Given the description of an element on the screen output the (x, y) to click on. 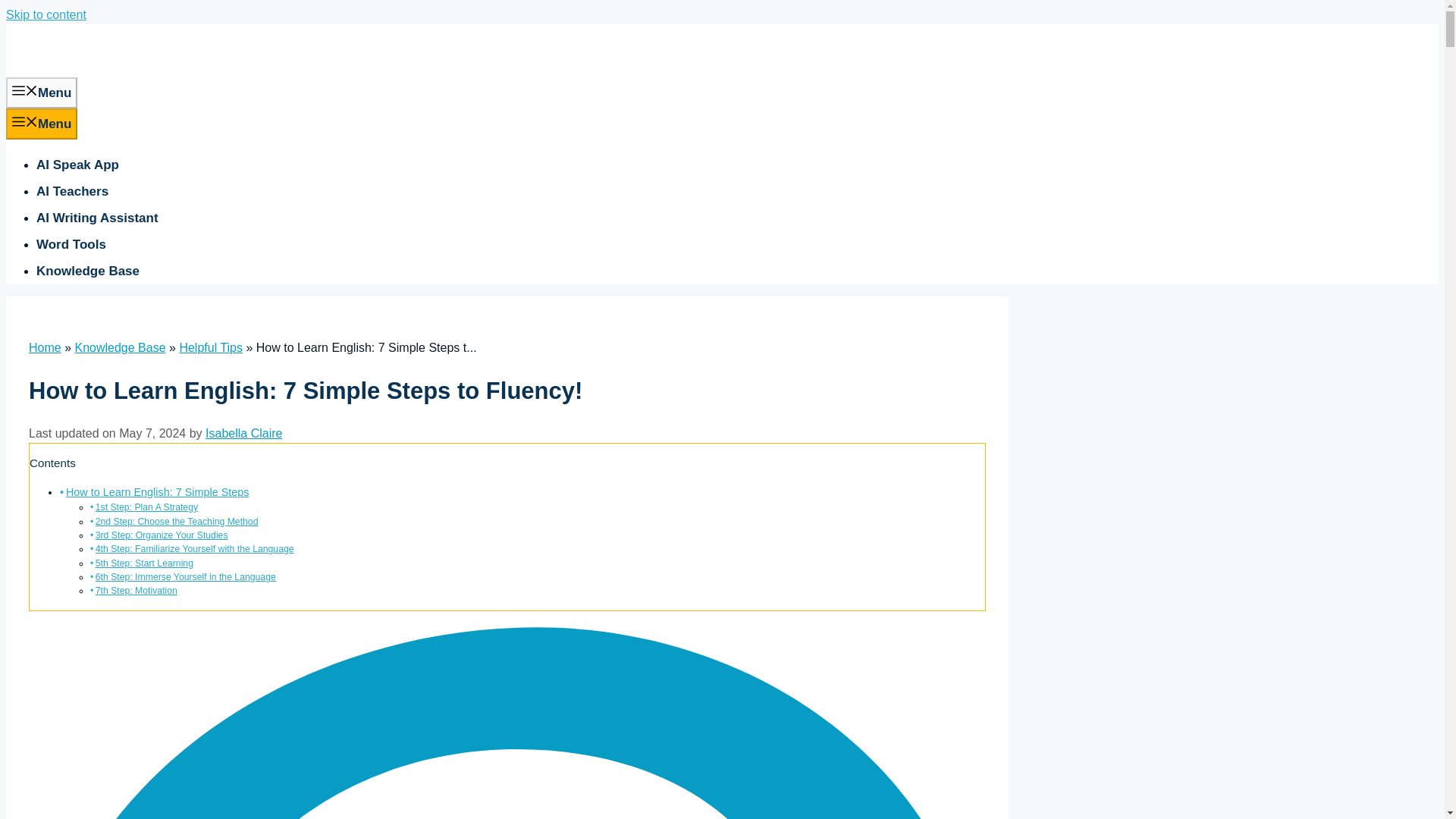
AI Writing Assistant (97, 217)
1st Step: Plan A Strategy (147, 507)
Skip to content (45, 14)
Knowledge Base (119, 347)
4th Step: Familiarize Yourself with the Language (195, 548)
6th Step: Immerse Yourself in the Language (186, 576)
2nd Step: Choose the Teaching Method (177, 521)
3rd Step: Organize Your Studies (162, 534)
How to Learn English: 7 Simple Steps (156, 491)
1st Step: Plan A Strategy (147, 507)
